Given the description of an element on the screen output the (x, y) to click on. 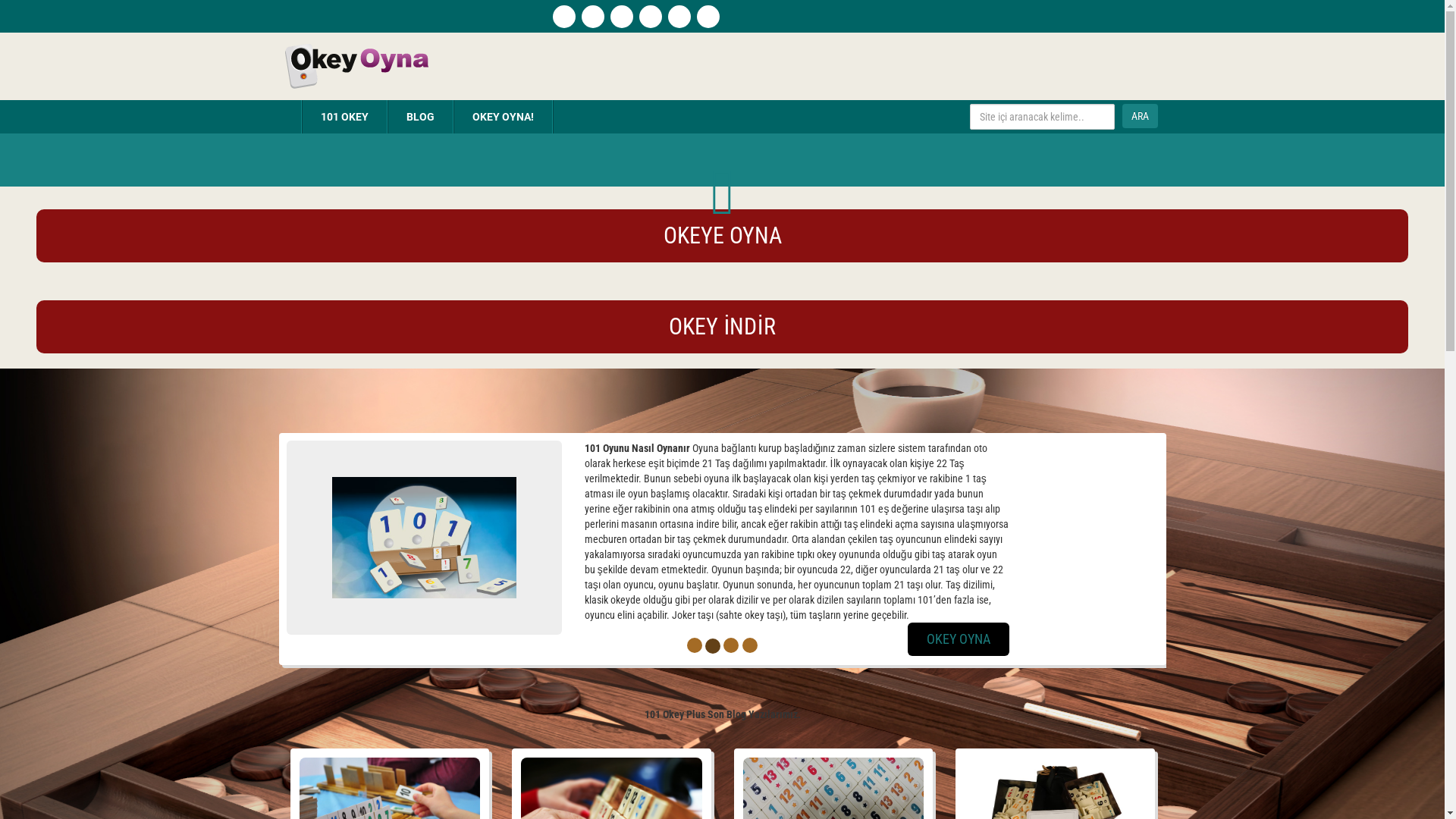
Twitter'de Biz Element type: hover (649, 16)
101 Okey Oyna Element type: hover (354, 65)
ARA Element type: text (1139, 115)
OKEY OYNA Element type: text (1072, 638)
Linkedin Profilimiz Element type: hover (707, 16)
BLOG Element type: text (420, 116)
OKEYE OYNA Element type: text (722, 235)
101 OKEY Element type: text (343, 116)
Facebook'da Biz Element type: hover (591, 16)
OKEY OYNA! Element type: text (501, 116)
OKEYE OYNA Element type: text (722, 239)
Instagram'da Bizi Takip Et Element type: hover (620, 16)
Google+ Abone Olun Element type: hover (678, 16)
